Given the description of an element on the screen output the (x, y) to click on. 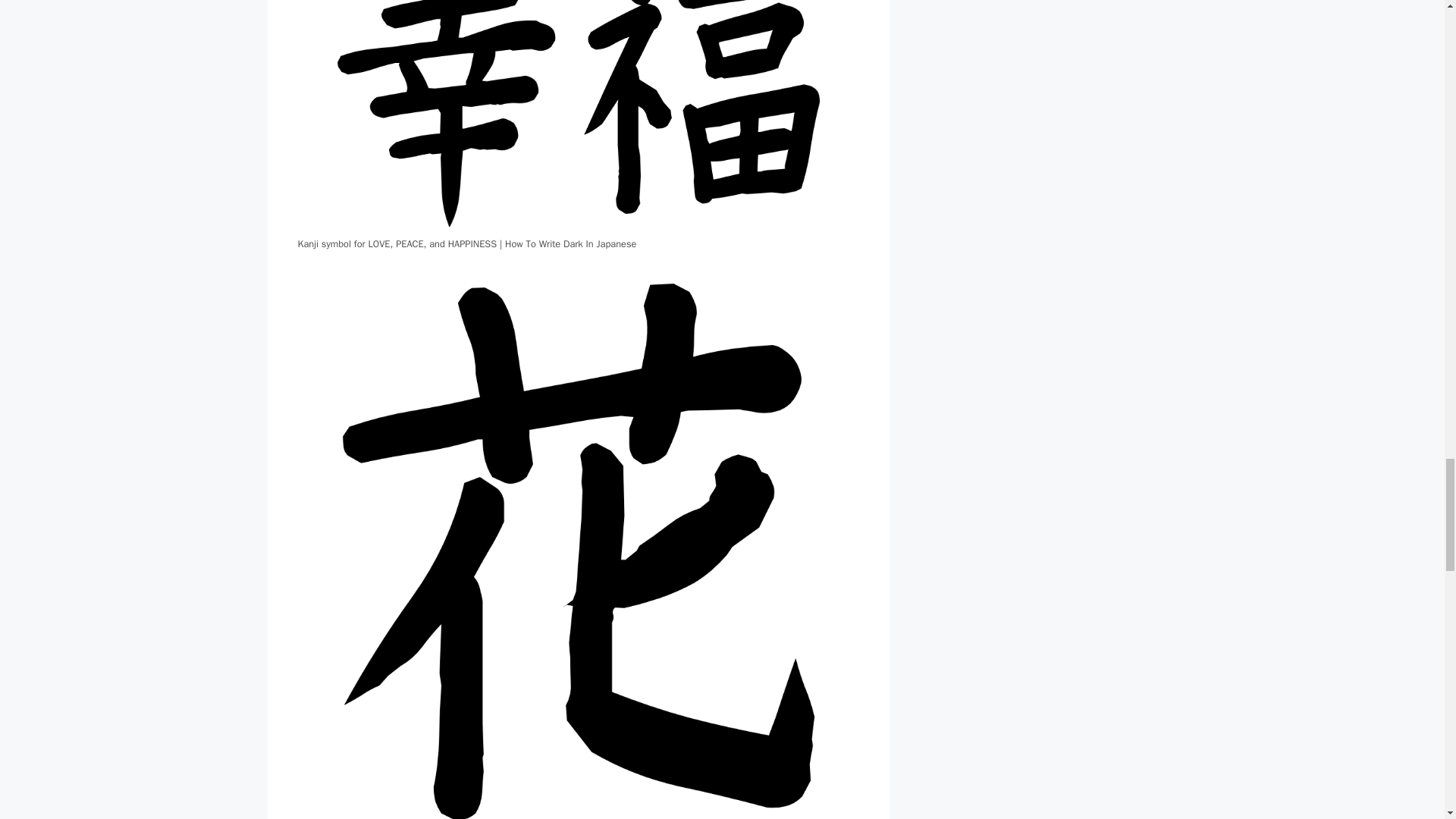
Kanji symbol for LOVE, PEACE, and HAPPINESS (578, 116)
